Given the description of an element on the screen output the (x, y) to click on. 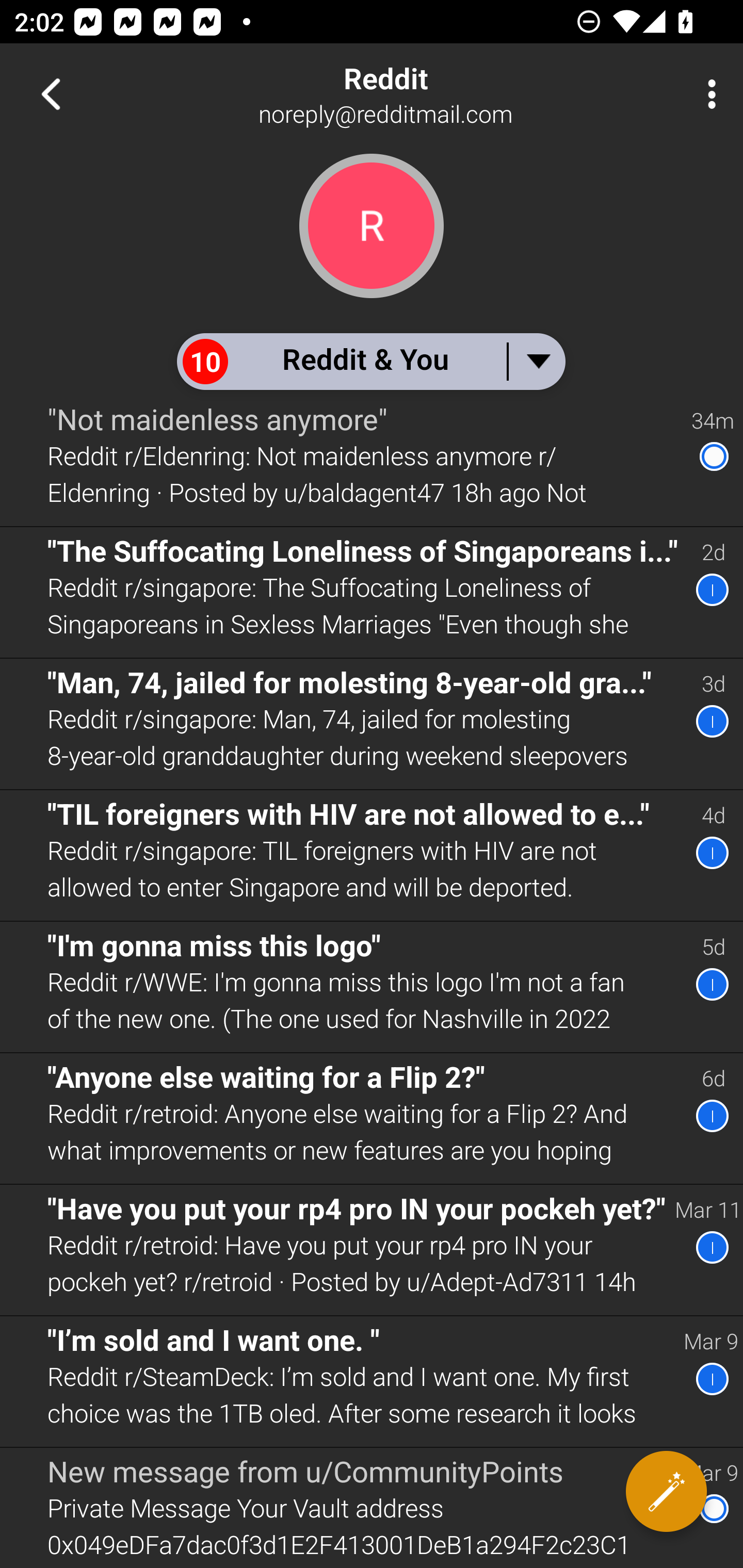
Navigate up (50, 93)
Reddit noreply@redditmail.com (436, 93)
More Options (706, 93)
10 Reddit & You (370, 361)
